Given the description of an element on the screen output the (x, y) to click on. 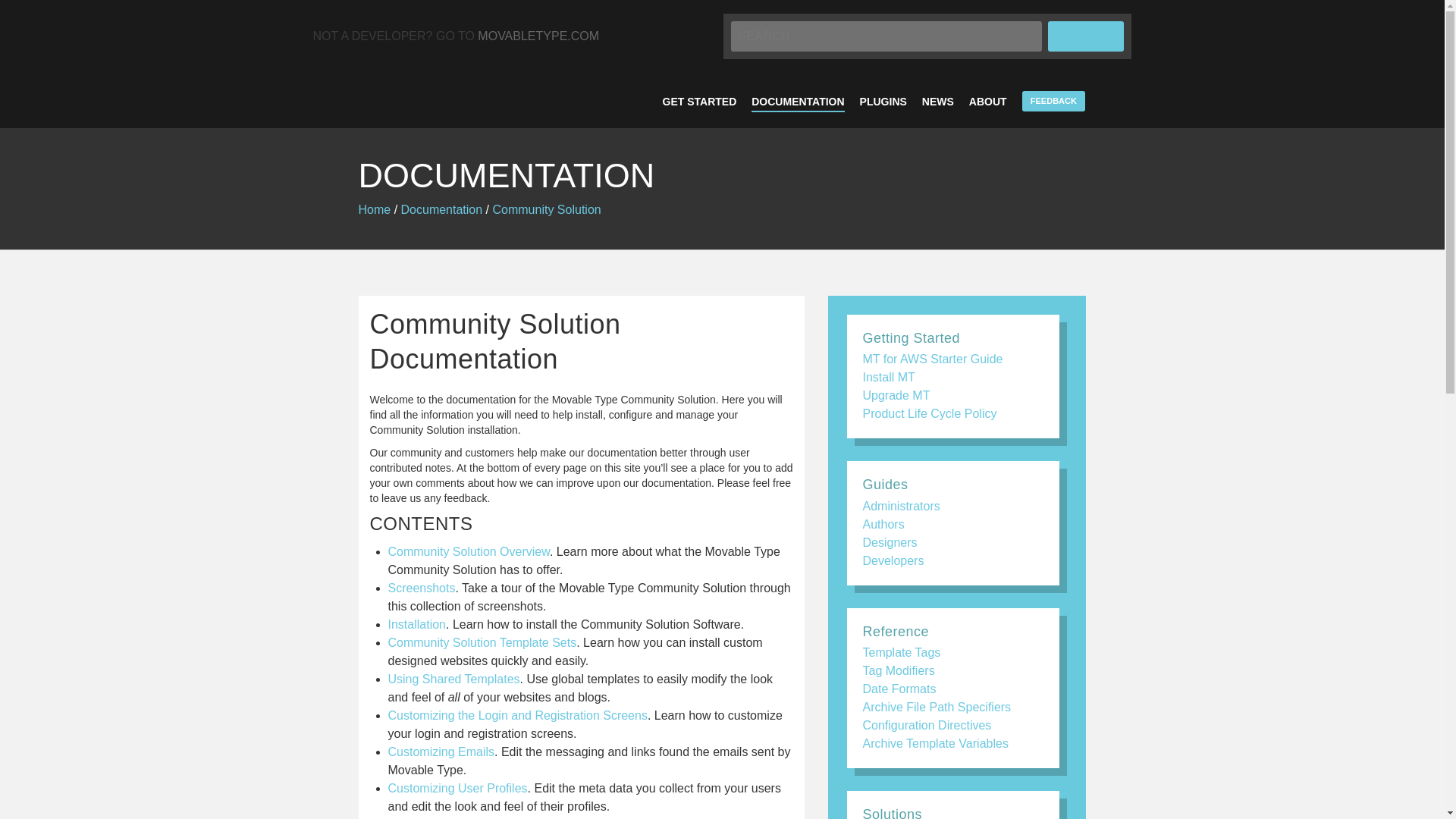
PLUGINS (883, 101)
search (1086, 36)
MT for AWS Starter Guide (932, 358)
Product Life Cycle Policy (928, 413)
Home (374, 209)
ABOUT (988, 101)
Screenshots (421, 587)
Community Solution Template Sets (482, 642)
Customizing Emails (441, 751)
Using Shared Templates (453, 678)
